Given the description of an element on the screen output the (x, y) to click on. 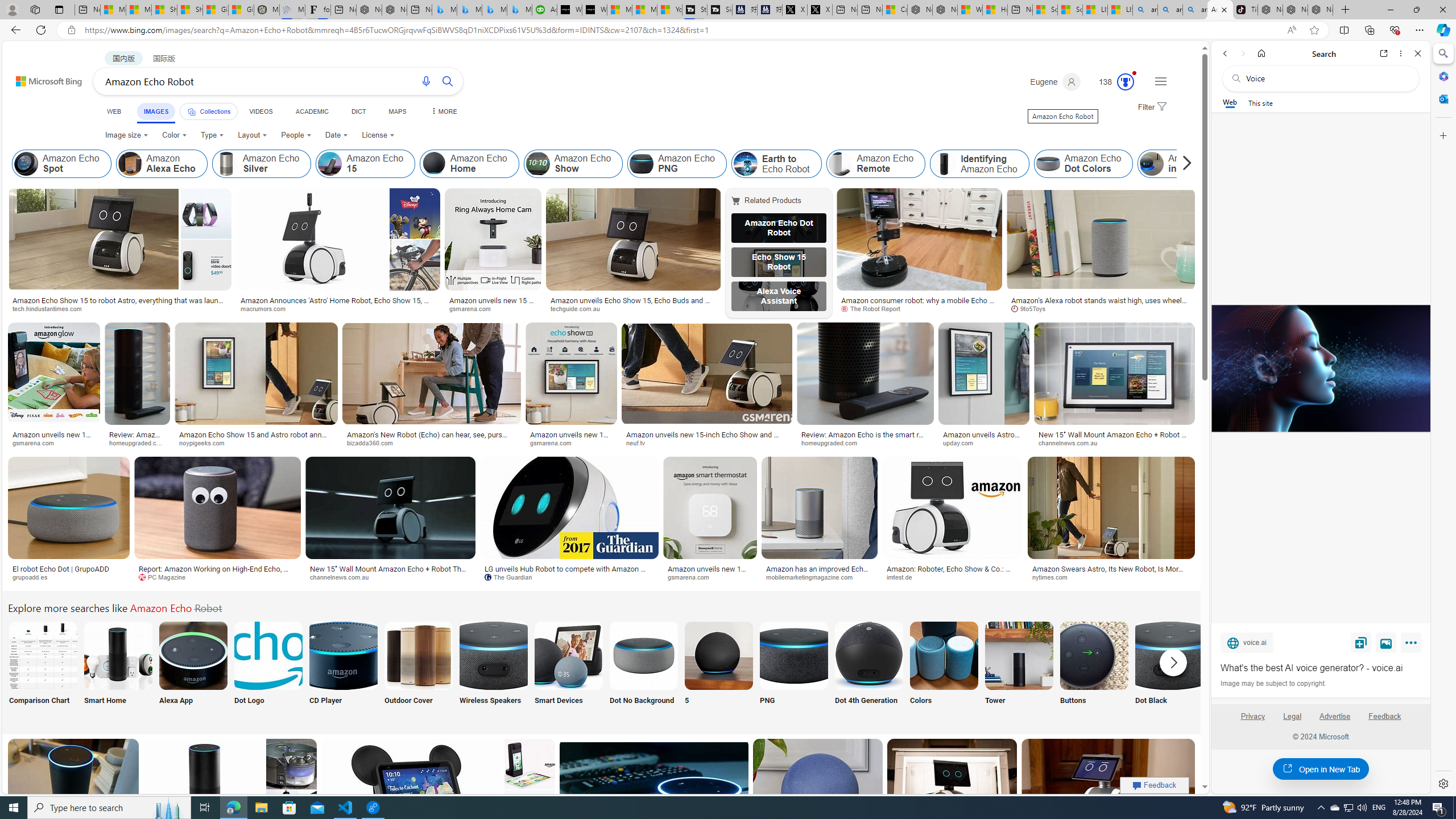
mobilemarketingmagazine.com (819, 576)
channelnews.com.au (343, 576)
Dot 4th Generation (868, 669)
Settings and quick links (1160, 80)
bizadda360.com (431, 442)
Amazon Echo with CD Player CD Player (342, 669)
IMAGES (156, 111)
